Given the description of an element on the screen output the (x, y) to click on. 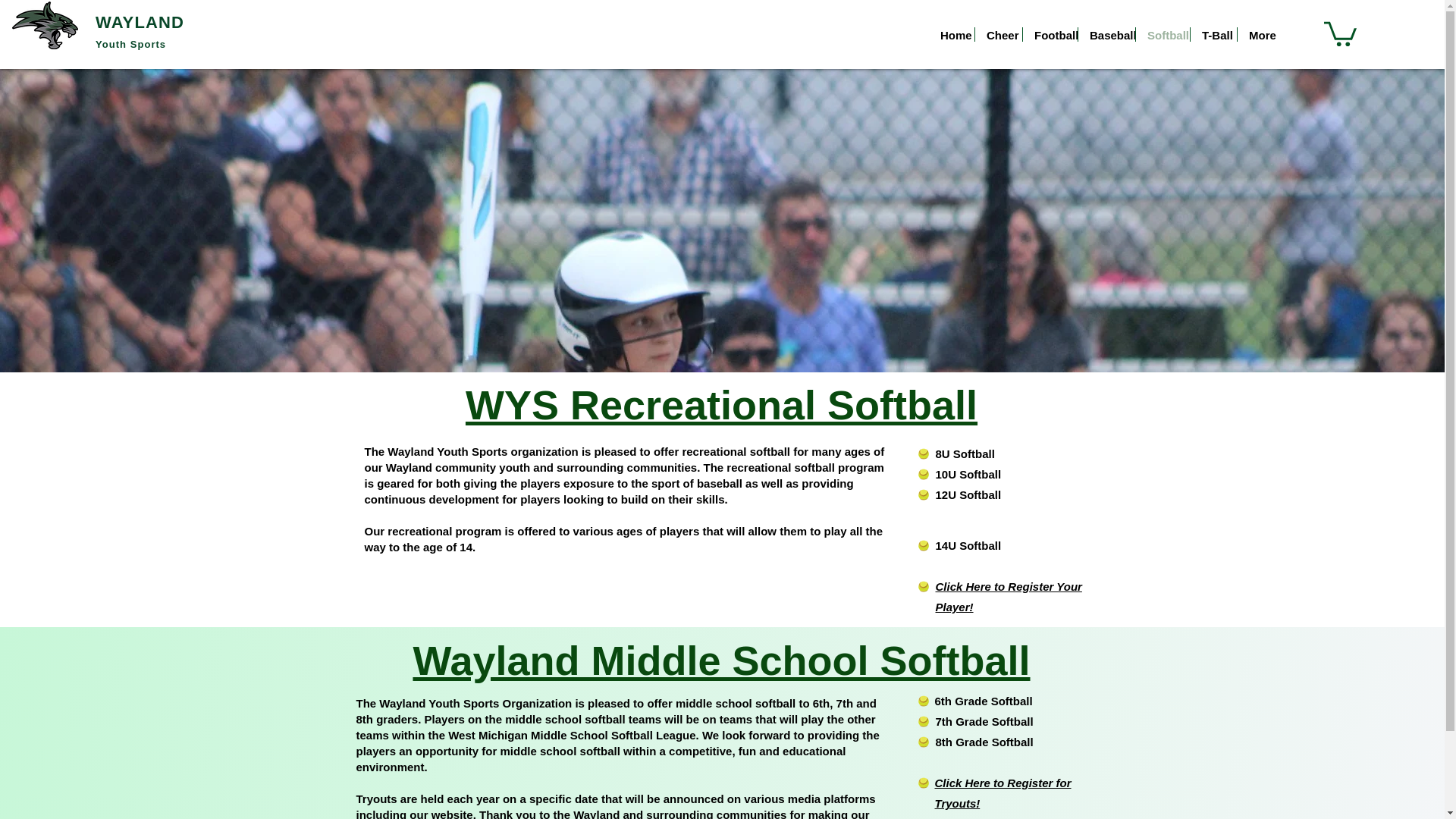
Baseball (1106, 34)
Home (951, 34)
Youth Sports (130, 43)
WAYLAND (140, 22)
T-Ball (1213, 34)
Click Here to Register Your Player! (1008, 596)
Cheer (998, 34)
WYS Recreational Softball (720, 404)
Wayland Middle School Softball (720, 660)
Click Here to Register for Tryouts! (1002, 792)
